Given the description of an element on the screen output the (x, y) to click on. 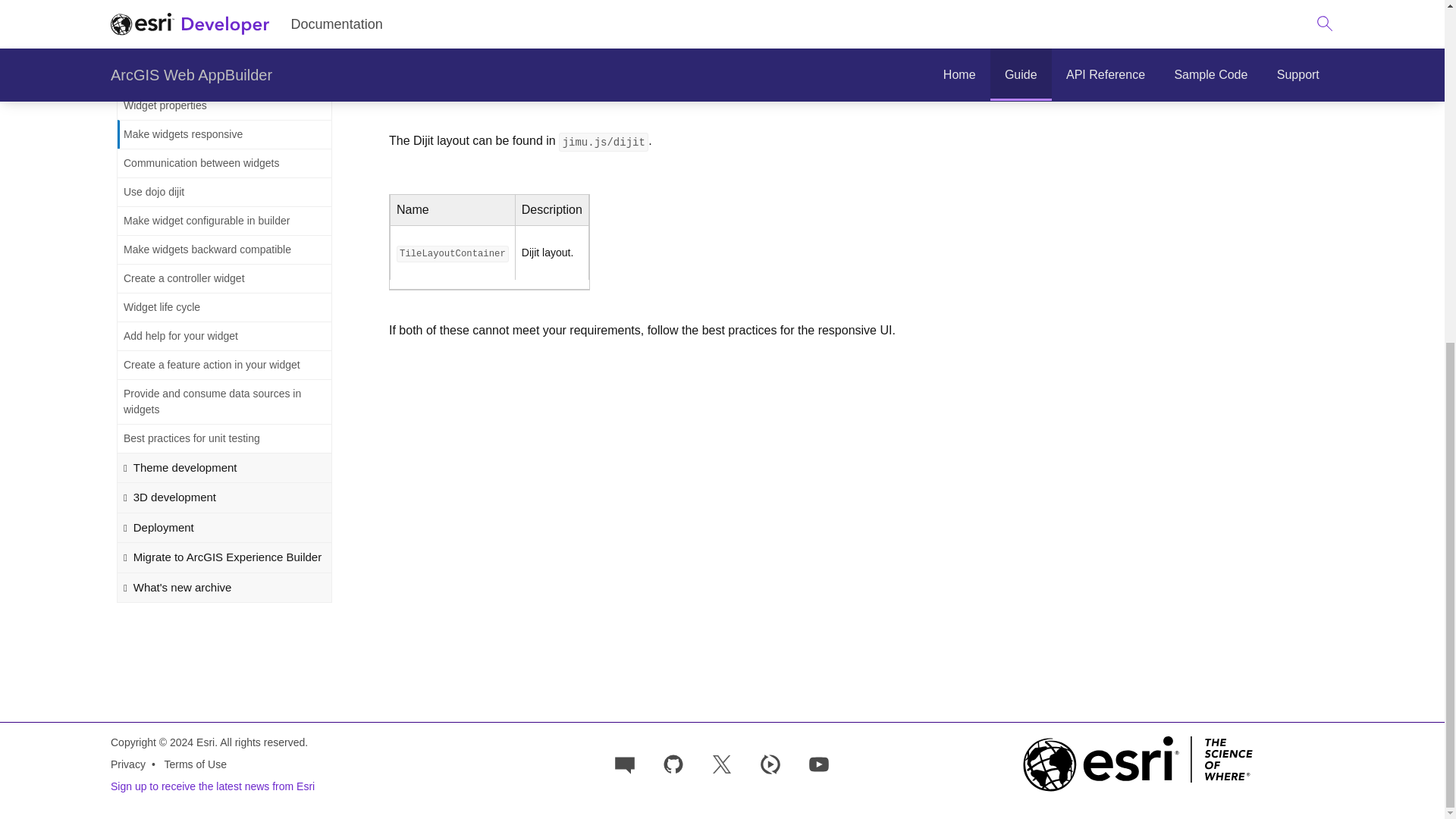
Esri (1137, 763)
Esri on GitHub (673, 762)
Esri Developers on YouTube (818, 762)
ArcGIS Developers on Esri Video (770, 762)
Esri Developers on X (721, 762)
Esri Community (625, 762)
